Given the description of an element on the screen output the (x, y) to click on. 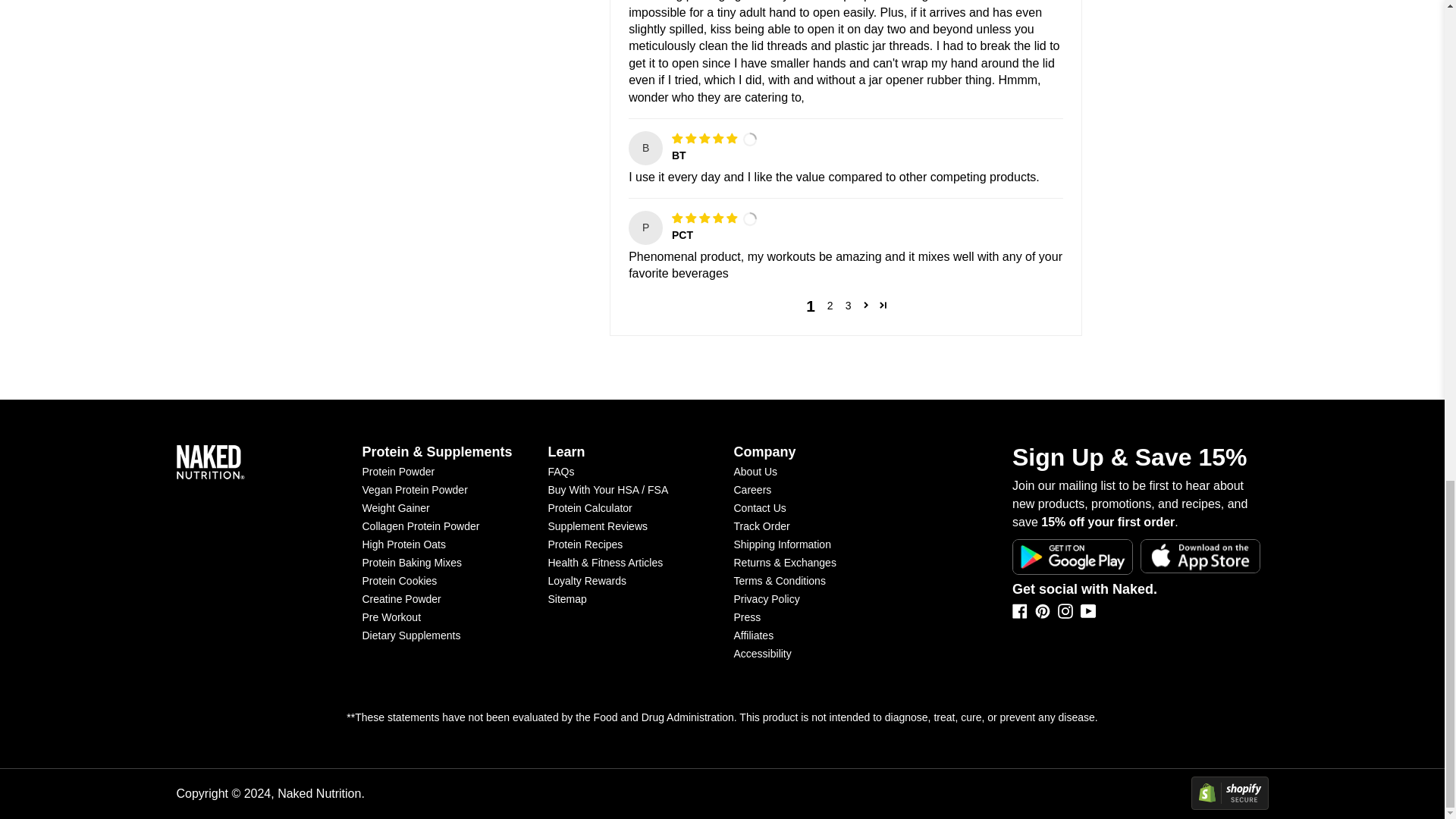
Naked Nutrition on Instagram (1065, 611)
Naked Nutrition on Facebook (1019, 614)
Naked Nutrition on Instagram (1065, 614)
Naked Nutrition on Pinterest (1042, 611)
This online store is secured by Shopify (1000, 793)
Download on the app store (1200, 556)
Naked Nutrition on Pinterest (1042, 614)
Naked Nutrition on YouTube (1088, 614)
Open in Google Play (1071, 556)
Naked Nutrition on Facebook (1019, 611)
Naked Nutrition on YouTube (1088, 611)
